Given the description of an element on the screen output the (x, y) to click on. 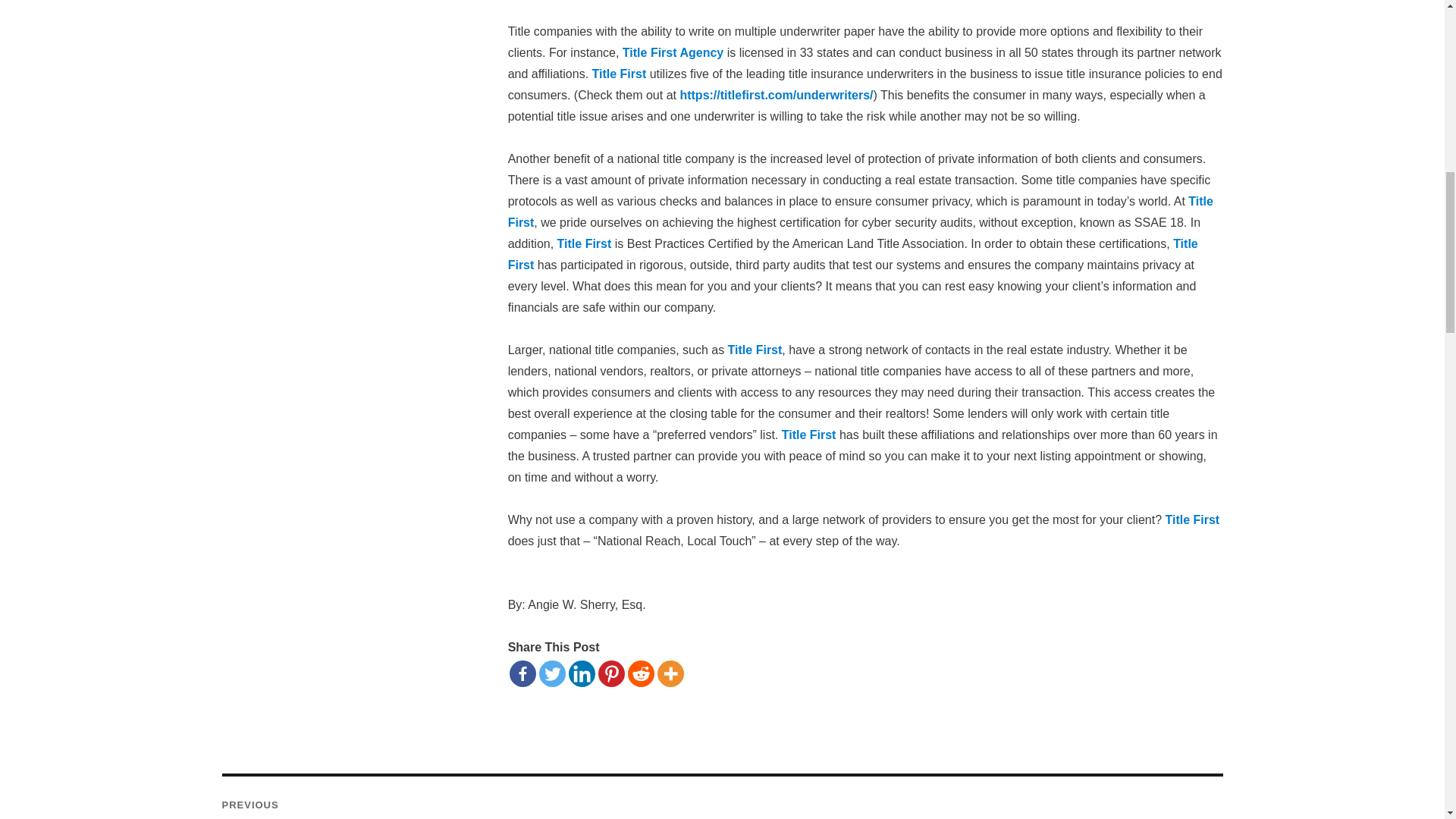
Reddit (640, 673)
More (671, 673)
Facebook (522, 673)
Linkedin (582, 673)
Twitter (552, 673)
Pinterest (611, 673)
